Given the description of an element on the screen output the (x, y) to click on. 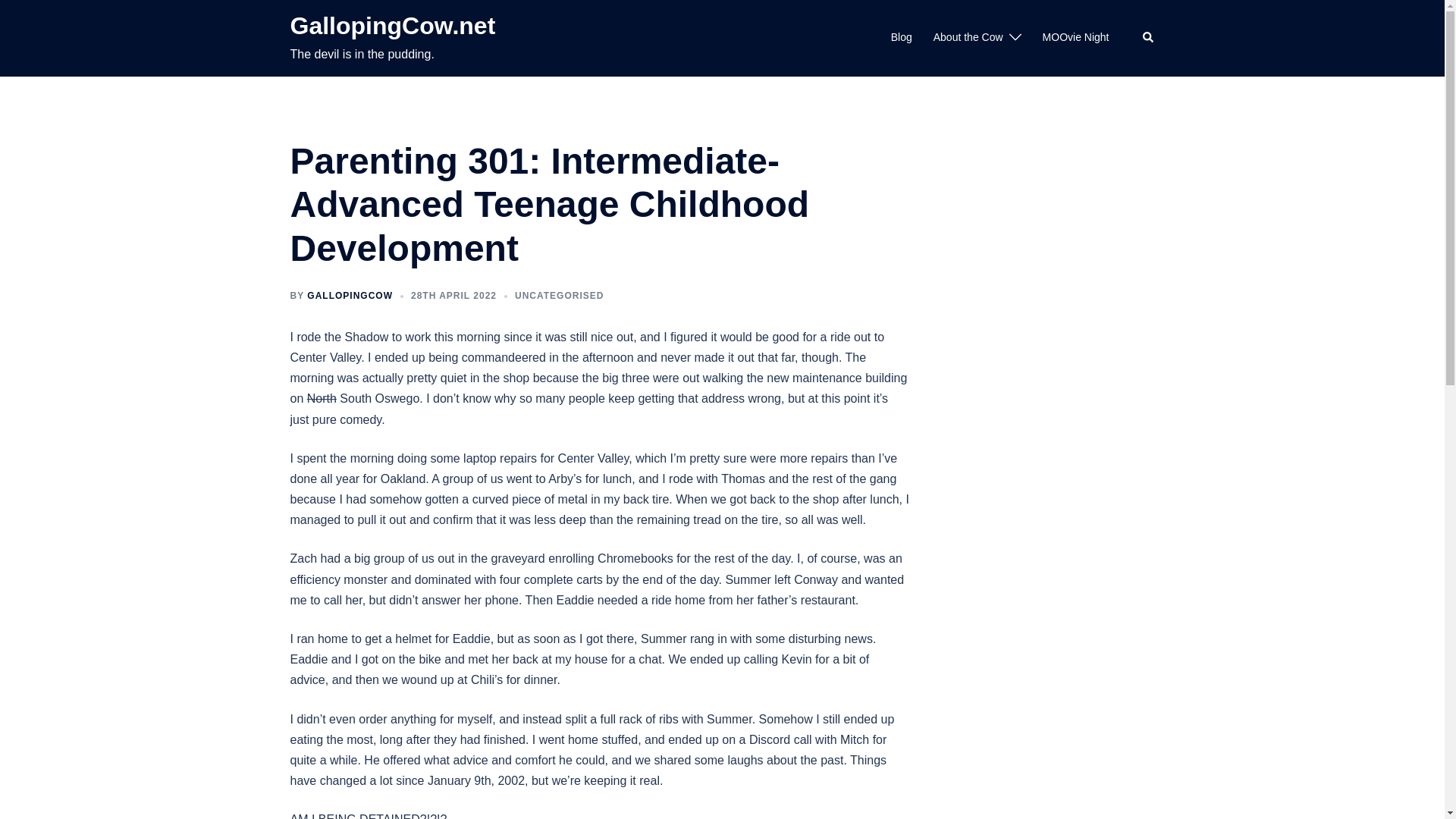
UNCATEGORISED (559, 295)
MOOvie Night (1075, 37)
Search (1147, 37)
About the Cow (968, 37)
Blog (901, 37)
GALLOPINGCOW (350, 295)
GallopingCow.net (392, 25)
28TH APRIL 2022 (453, 295)
